Given the description of an element on the screen output the (x, y) to click on. 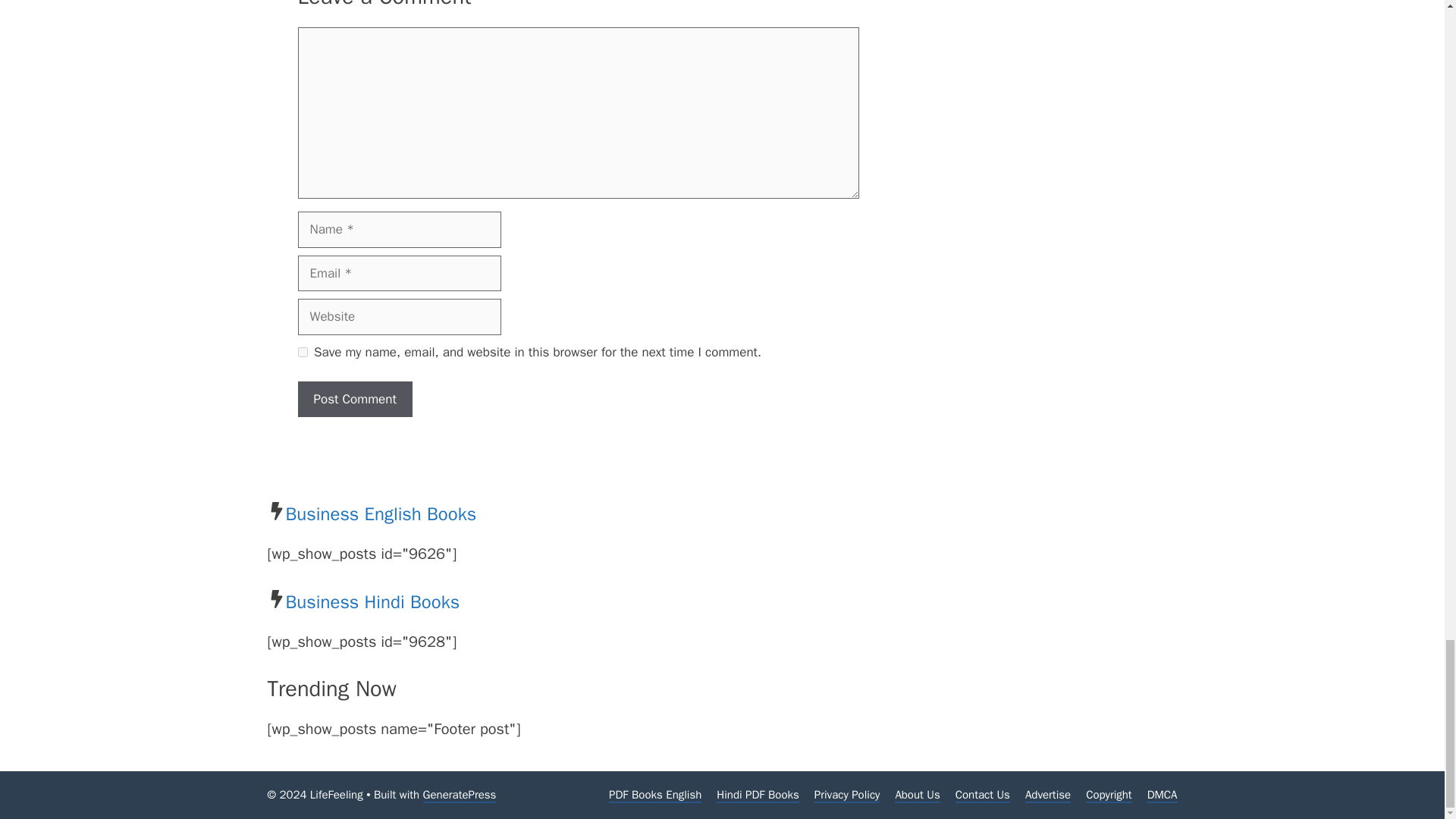
yes (302, 352)
Post Comment (354, 399)
Post Comment (354, 399)
